Given the description of an element on the screen output the (x, y) to click on. 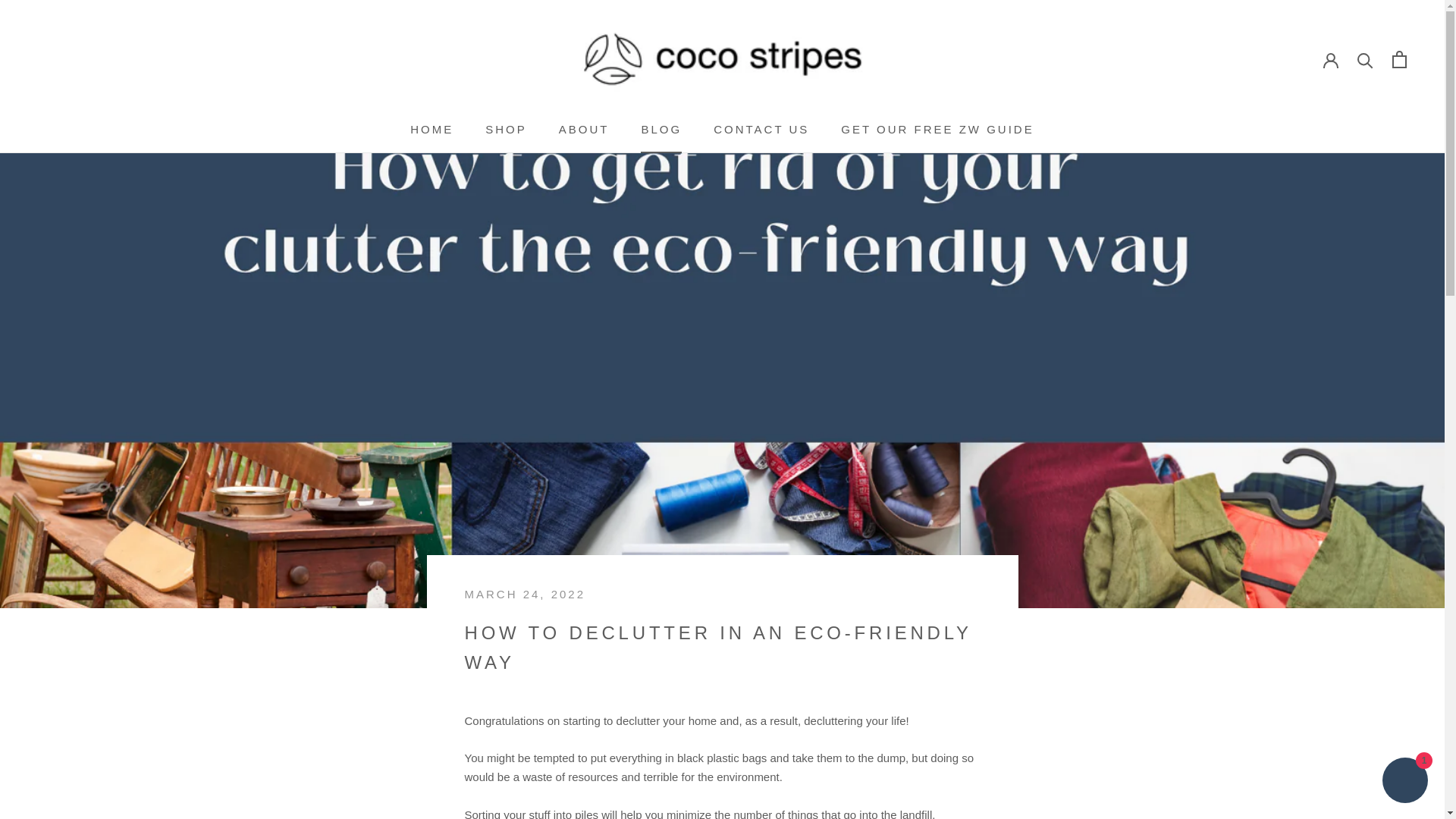
SHOP (761, 128)
ABOUT (505, 128)
Shopify online store chat (937, 128)
